Given the description of an element on the screen output the (x, y) to click on. 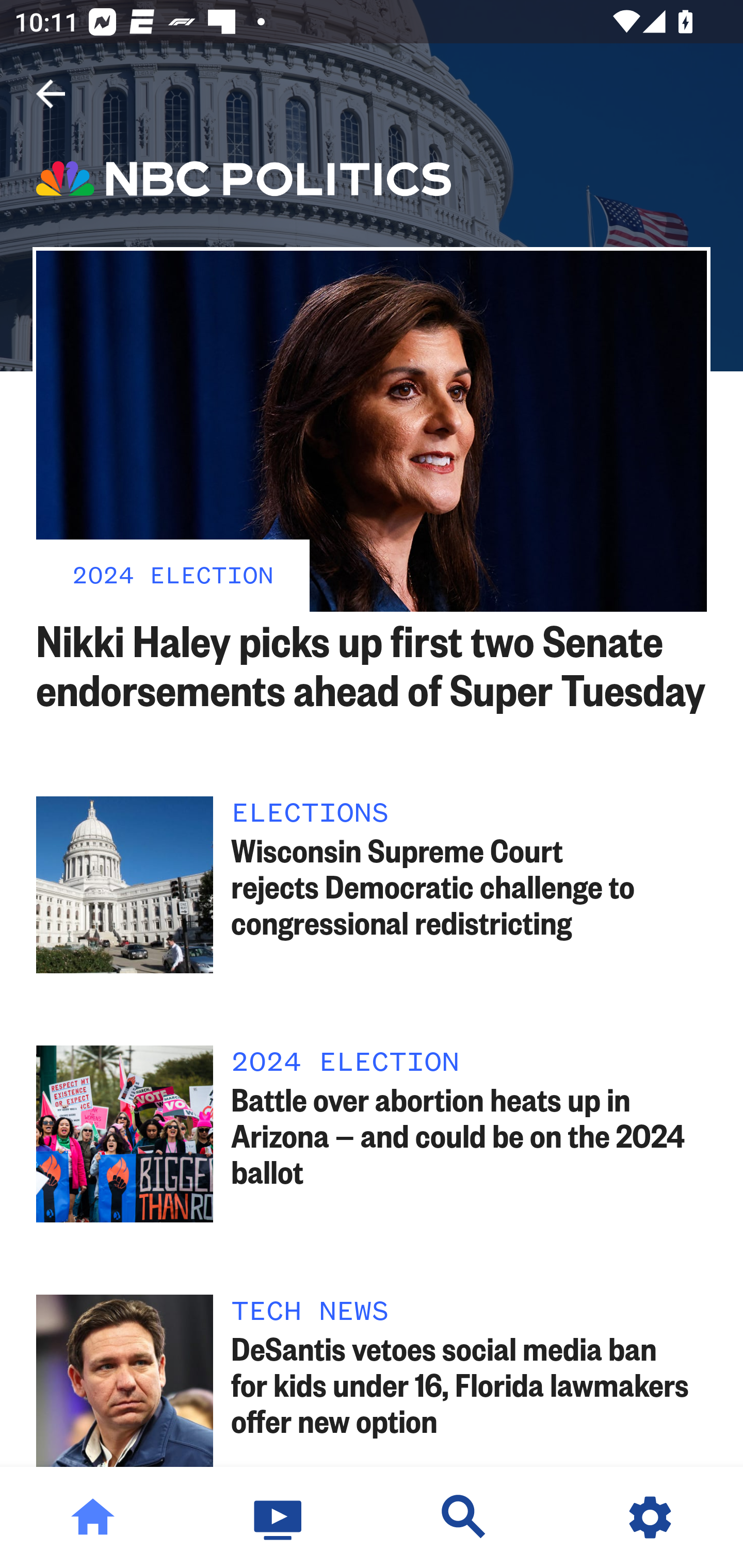
Navigate up (50, 93)
Watch (278, 1517)
Discover (464, 1517)
Settings (650, 1517)
